Given the description of an element on the screen output the (x, y) to click on. 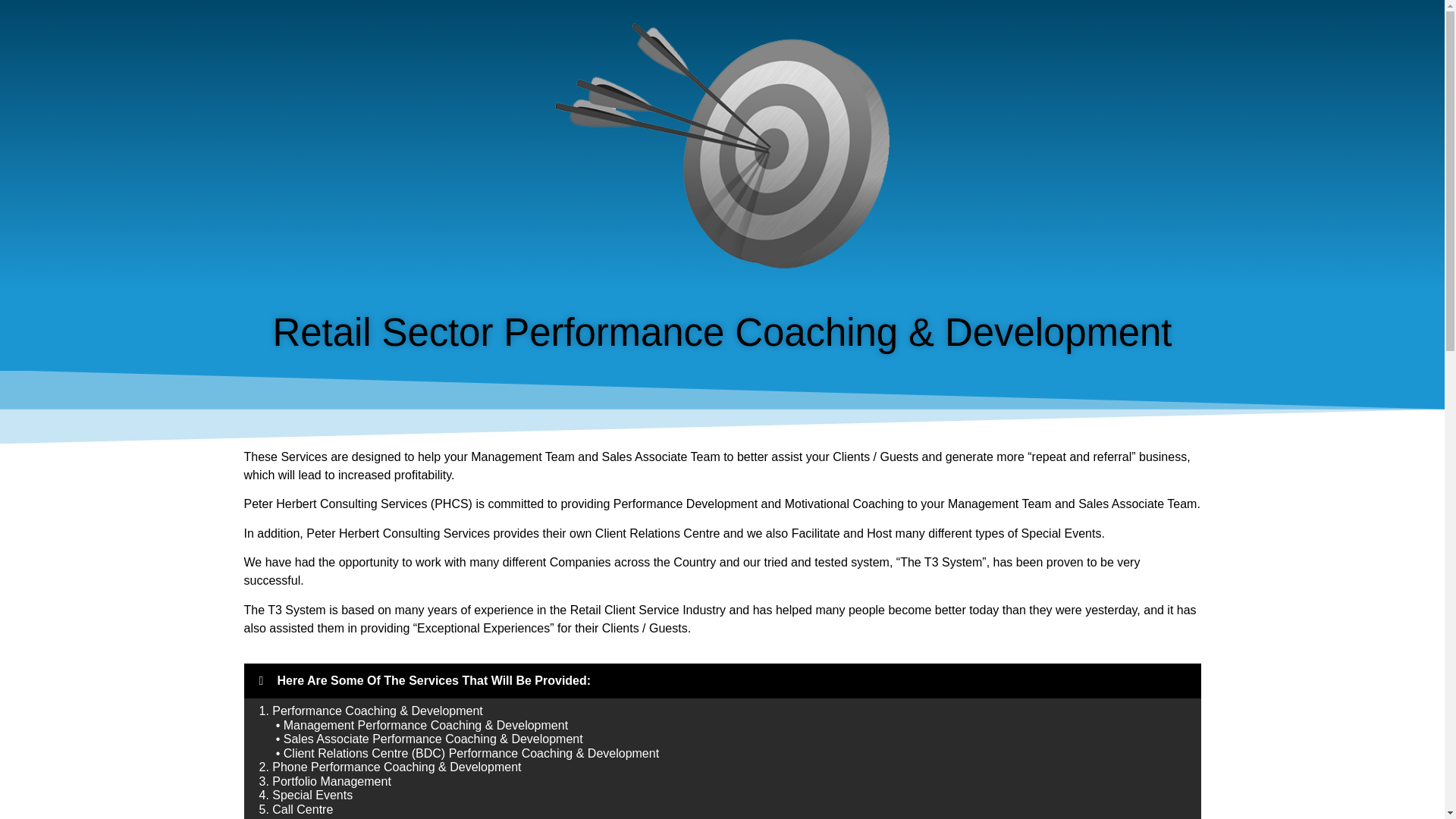
Here Are Some Of The Services That Will Be Provided: (434, 680)
